Given the description of an element on the screen output the (x, y) to click on. 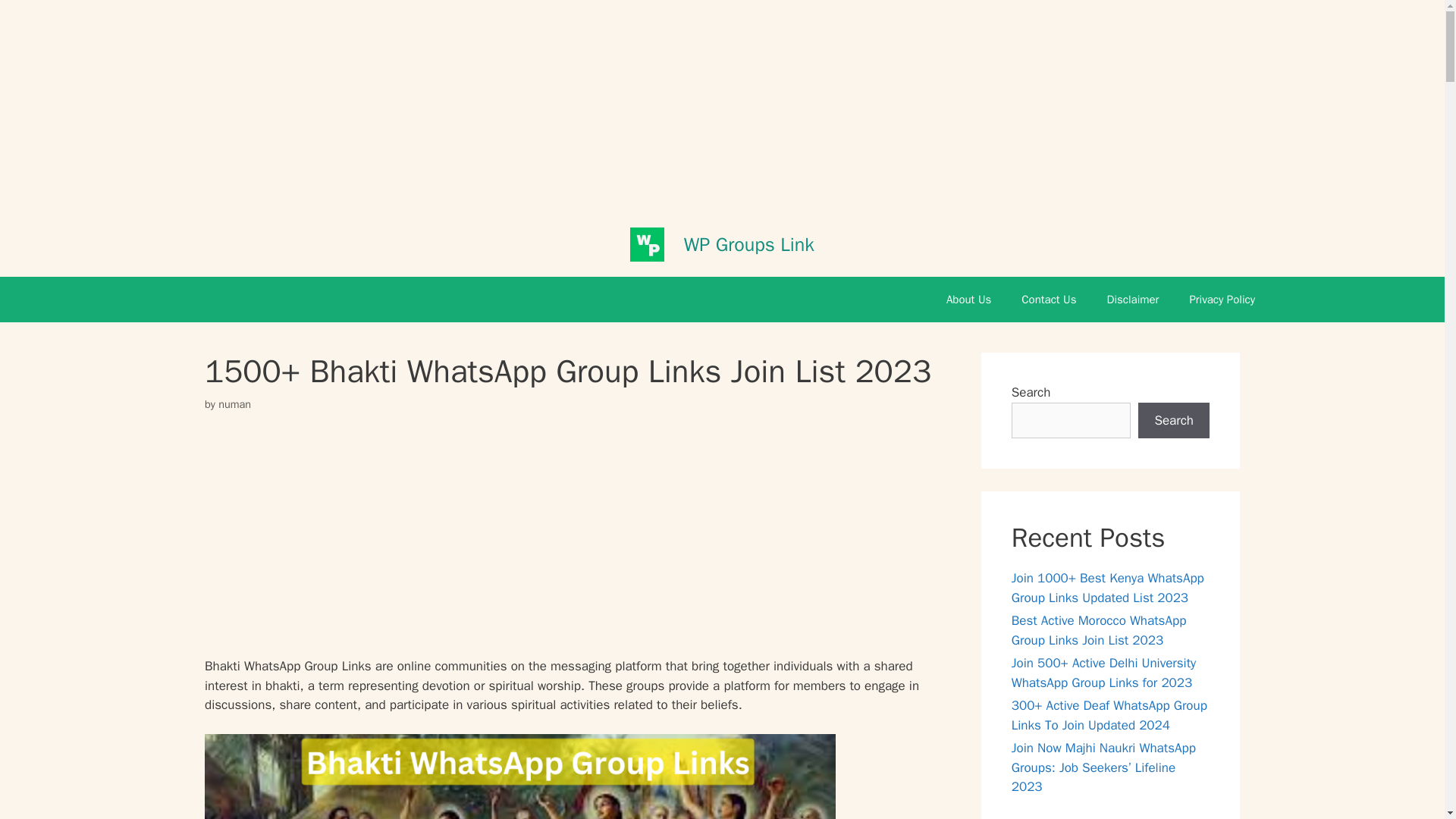
WP Groups Link (748, 243)
Disclaimer (1133, 299)
About Us (968, 299)
View all posts by numan (234, 404)
Contact Us (1048, 299)
numan (234, 404)
Privacy Policy (1221, 299)
